Given the description of an element on the screen output the (x, y) to click on. 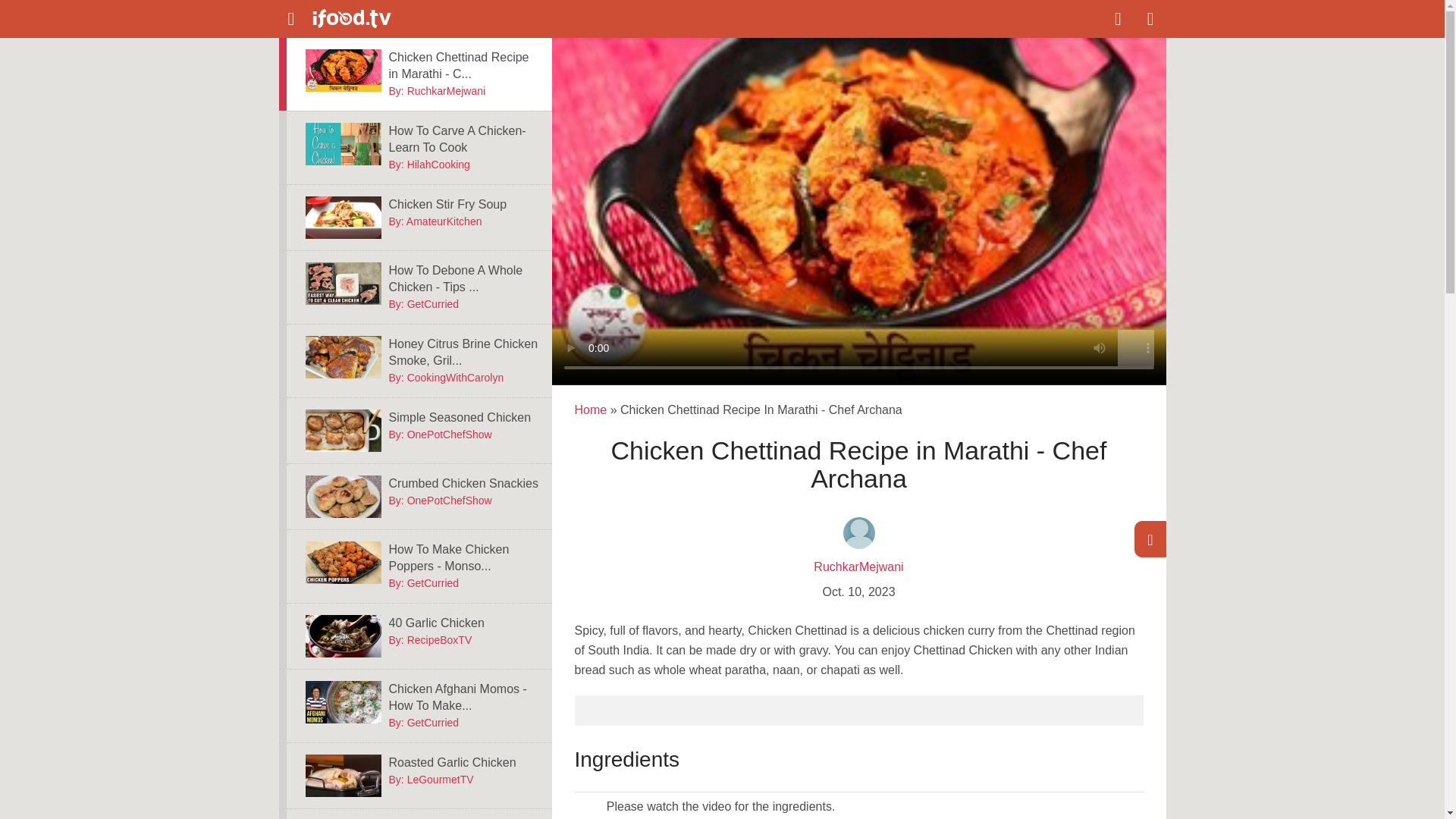
Return to the ifood.tv home page (377, 19)
How To Make Chicken Poppers - Monsoon Recipe - Tarika (464, 557)
Chicken Chettinad Recipe in Marathi - Chef Archana (342, 70)
Crumbed Chicken Snackies (342, 496)
Simple Seasoned Chicken (342, 430)
How To Make Chicken Poppers - Monsoon Recipe - Tarika (342, 562)
Chicken Stir Fry Soup (342, 217)
Chicken Chettinad Recipe in Marathi - Chef Archana (464, 65)
How To Carve A Chicken- Learn To Cook (342, 143)
